Given the description of an element on the screen output the (x, y) to click on. 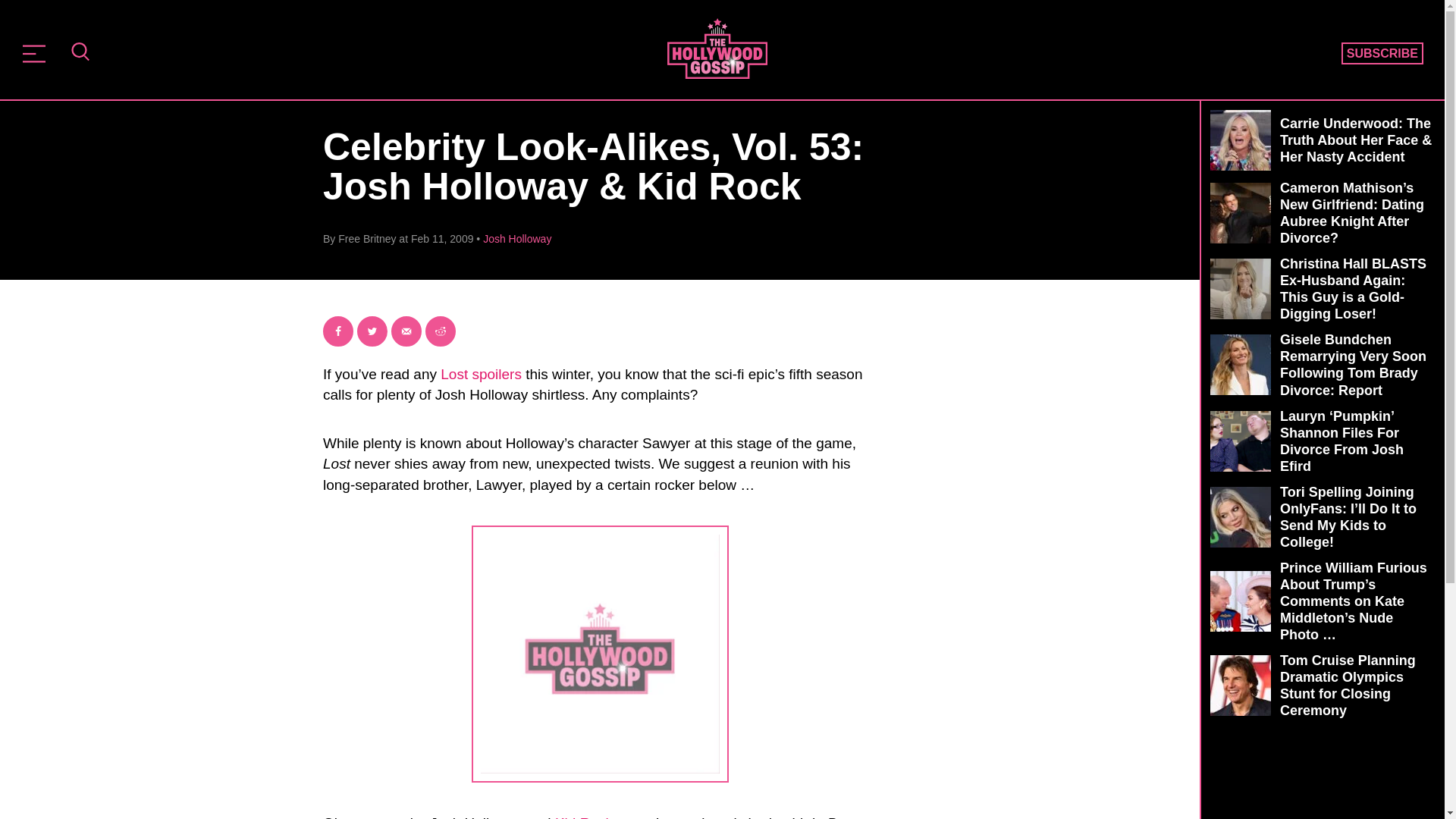
Free Britney (366, 238)
Send over email (406, 331)
SUBSCRIBE (1381, 53)
SEARCH (79, 53)
Josh Holloway (517, 238)
Share on Reddit (440, 331)
Share on Facebook (338, 331)
The Hollywood Gossip (716, 48)
Share on Twitter (371, 331)
Lost spoilers (481, 374)
